Given the description of an element on the screen output the (x, y) to click on. 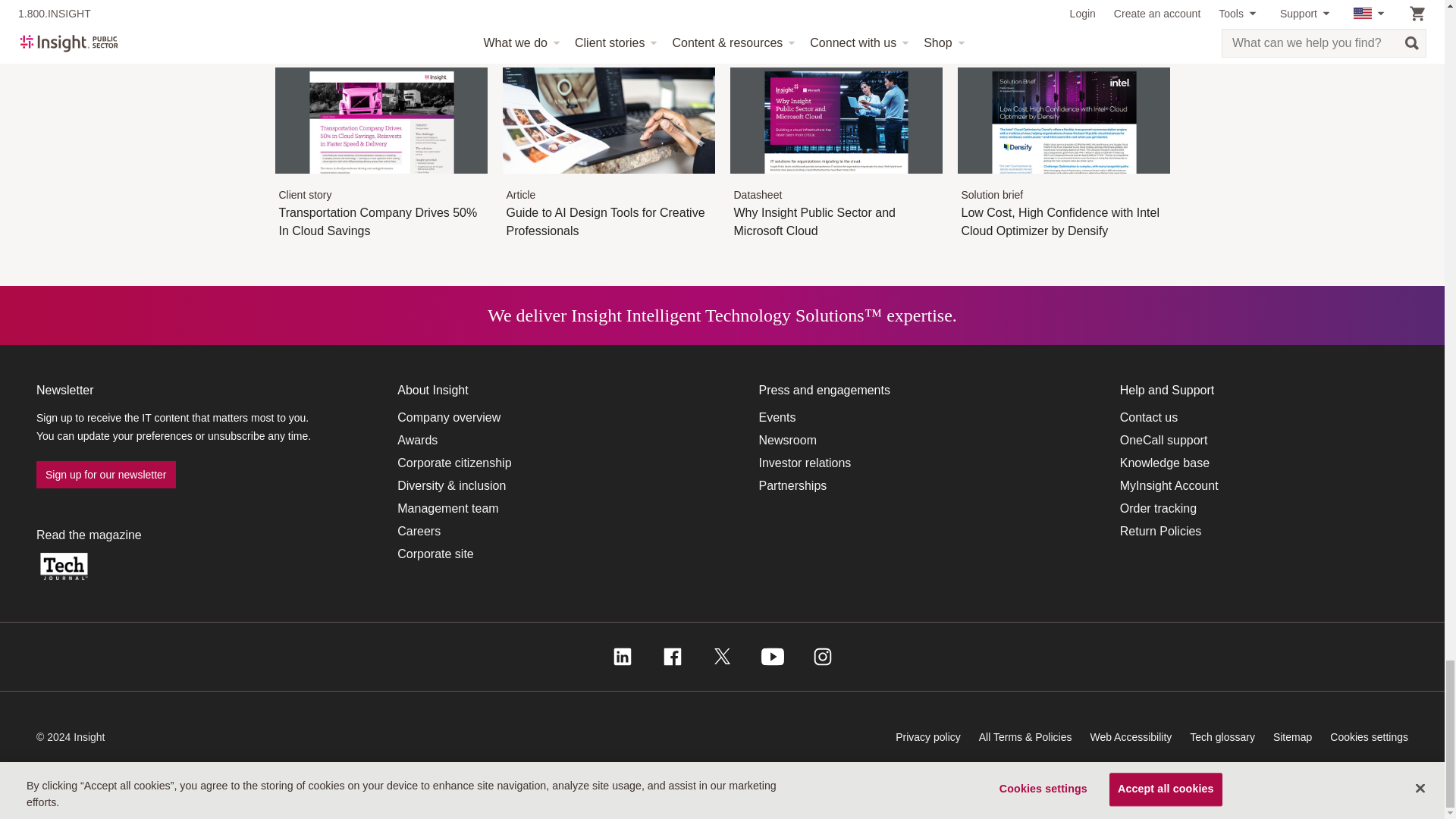
Twitter (722, 656)
Instagram (822, 656)
Why Insight Public Sector and Microsoft Cloud (835, 181)
Guide to AI Design Tools for Creative Professionals  (608, 181)
Facebook (672, 656)
Youtube (772, 656)
Linkedin (622, 656)
